Given the description of an element on the screen output the (x, y) to click on. 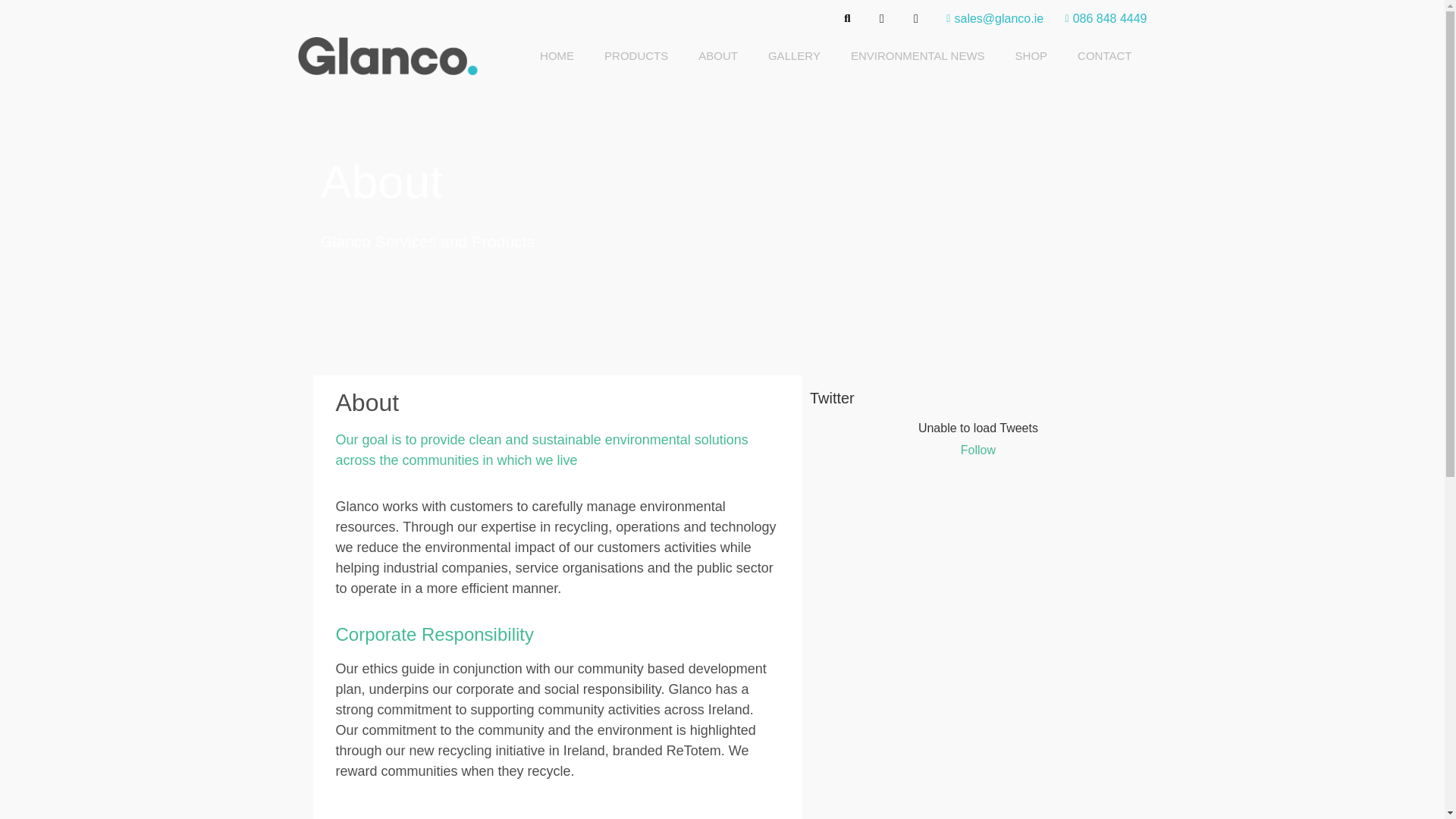
ABOUT (717, 55)
GALLERY (793, 55)
Follow (977, 449)
CONTACT (1104, 55)
HOME (556, 55)
PRODUCTS (635, 55)
SHOP (1031, 55)
086 848 4449 (1101, 18)
ENVIRONMENTAL NEWS (917, 55)
